Given the description of an element on the screen output the (x, y) to click on. 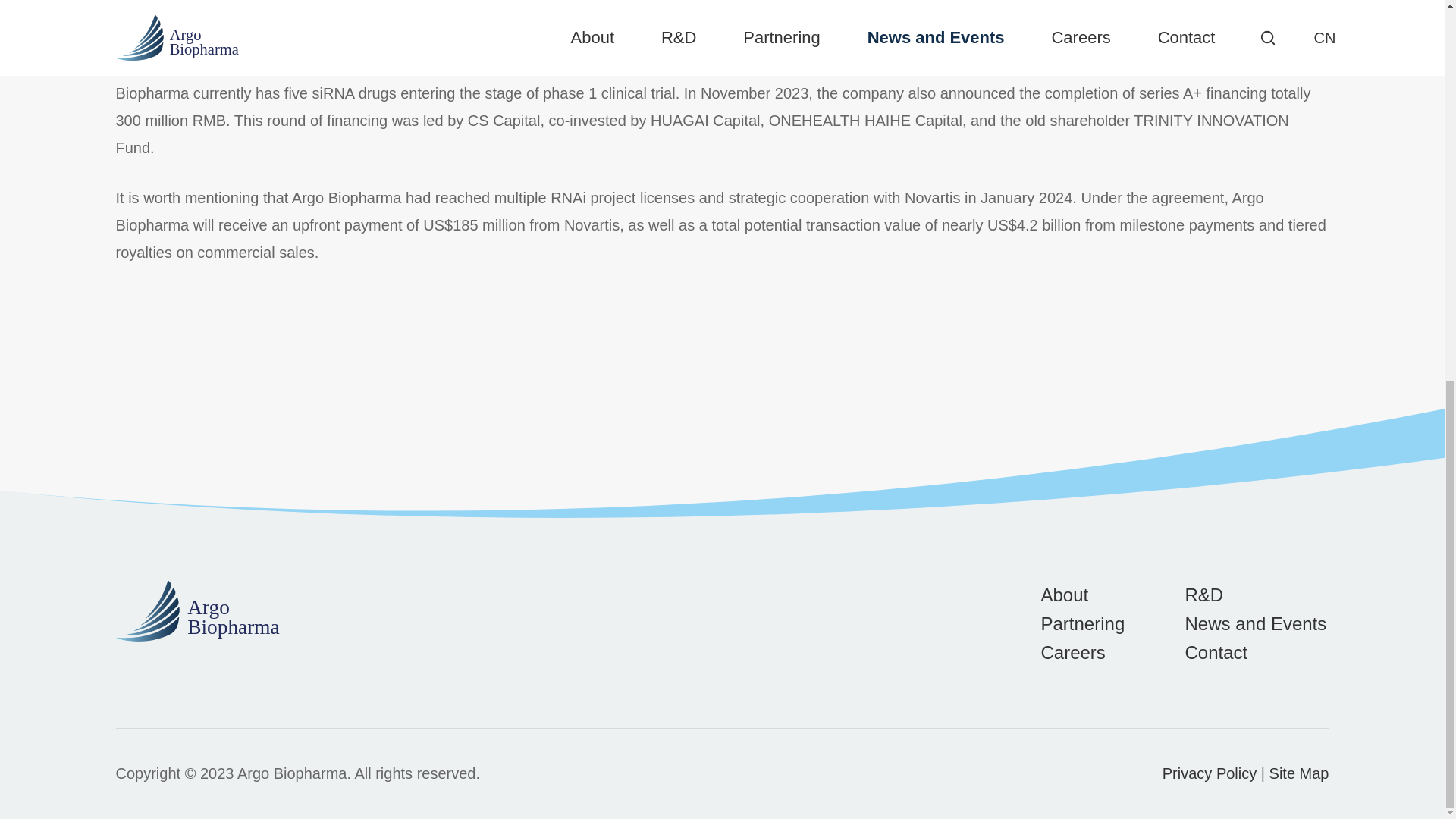
Careers (1073, 652)
Contact (1216, 652)
Privacy Policy (1208, 773)
News and Events (1255, 623)
About (1064, 594)
Partnering (1082, 623)
Site Map (1299, 773)
